Given the description of an element on the screen output the (x, y) to click on. 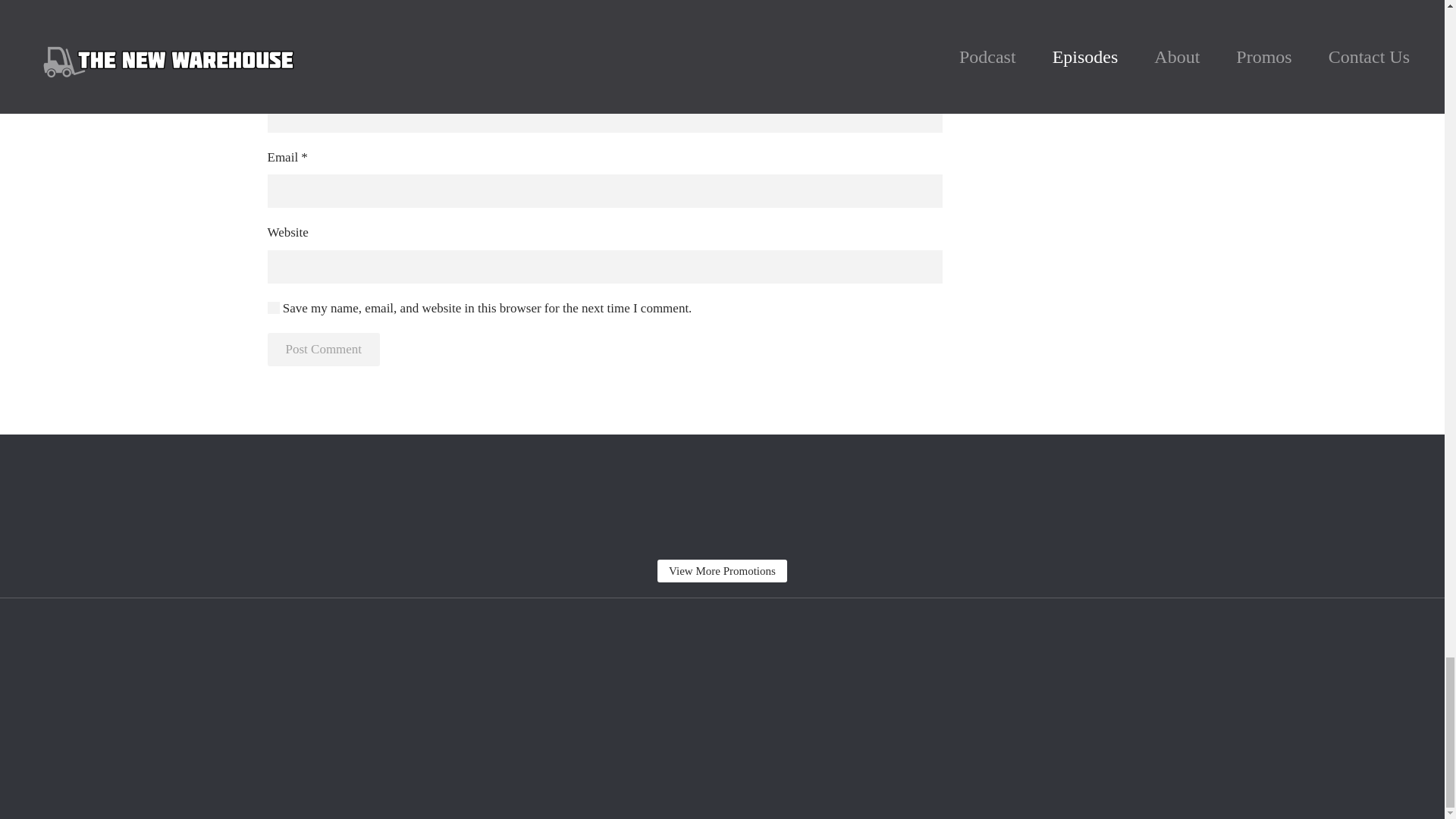
Rufus Web Ad (722, 495)
yes (272, 307)
